Given the description of an element on the screen output the (x, y) to click on. 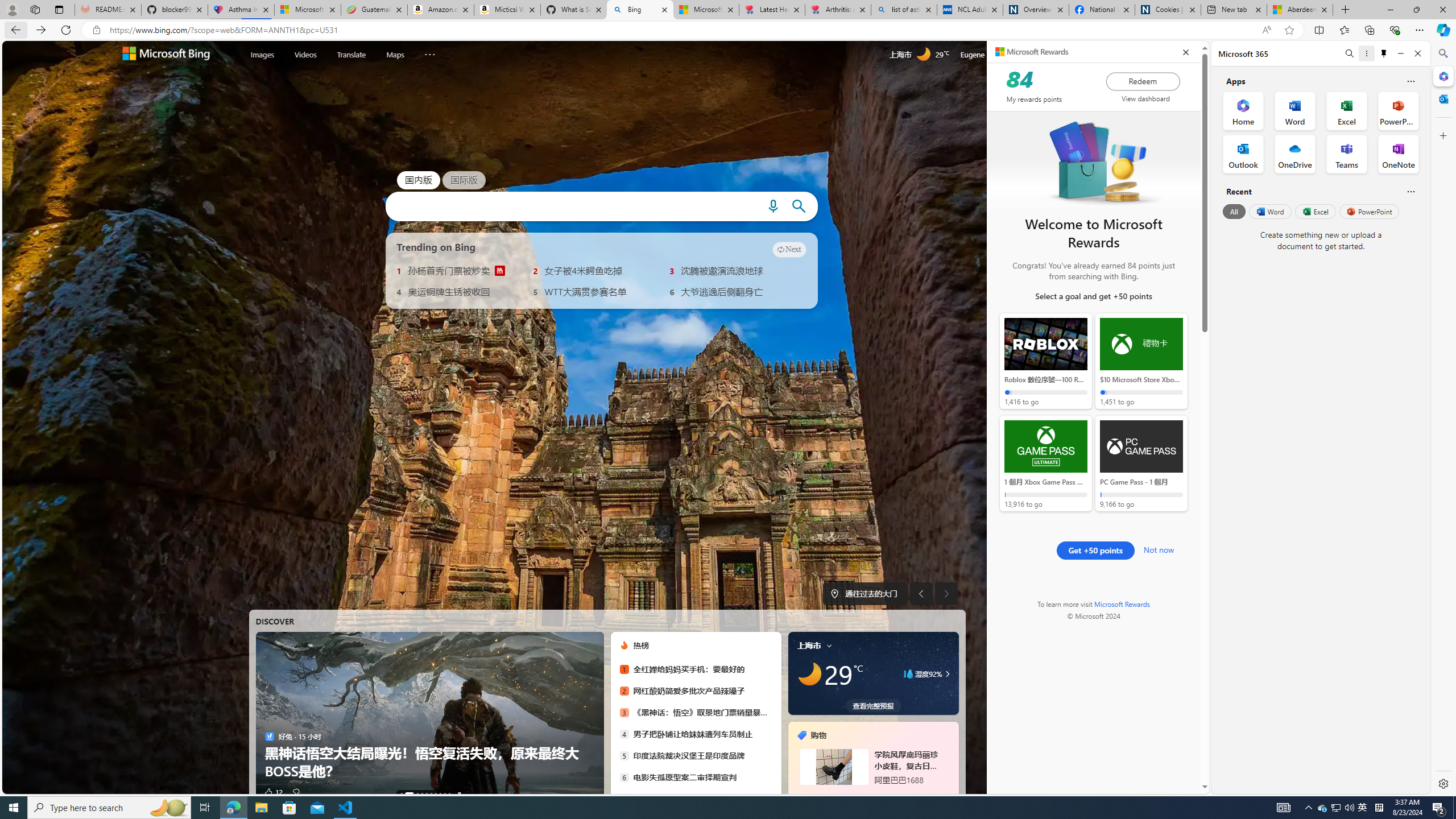
Word (1269, 210)
Welcome to Bing Search (165, 54)
View dashboard (1145, 98)
Images (261, 54)
